Given the description of an element on the screen output the (x, y) to click on. 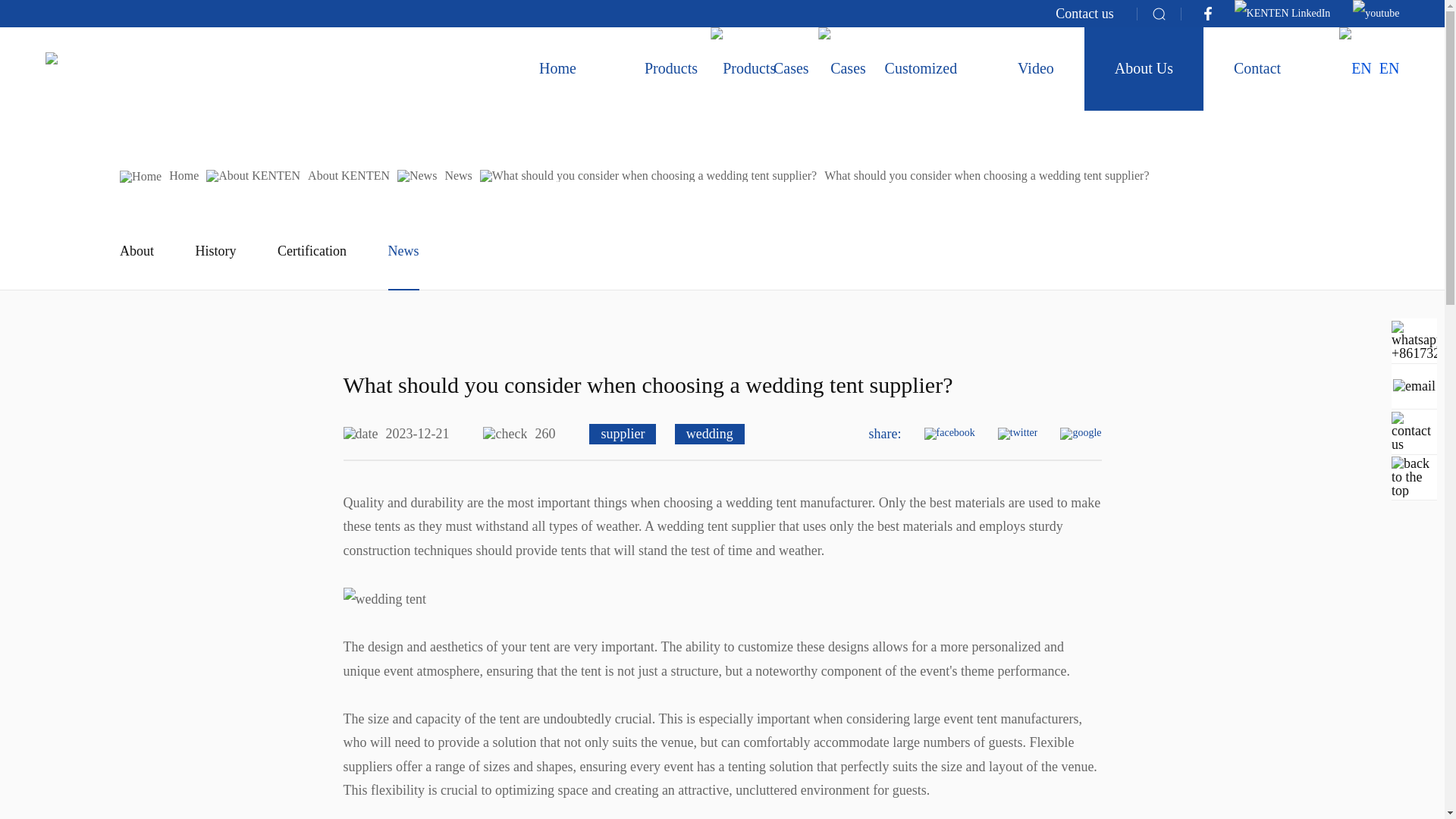
Products (671, 68)
Structure Tent (81, 69)
KENTEN LinkedIn (1282, 13)
Products (671, 68)
Facebook (1207, 13)
search (1159, 13)
Home (557, 68)
Products (743, 68)
Home (557, 68)
youtube (1375, 13)
Contact us (1084, 13)
Cases (791, 68)
